Given the description of an element on the screen output the (x, y) to click on. 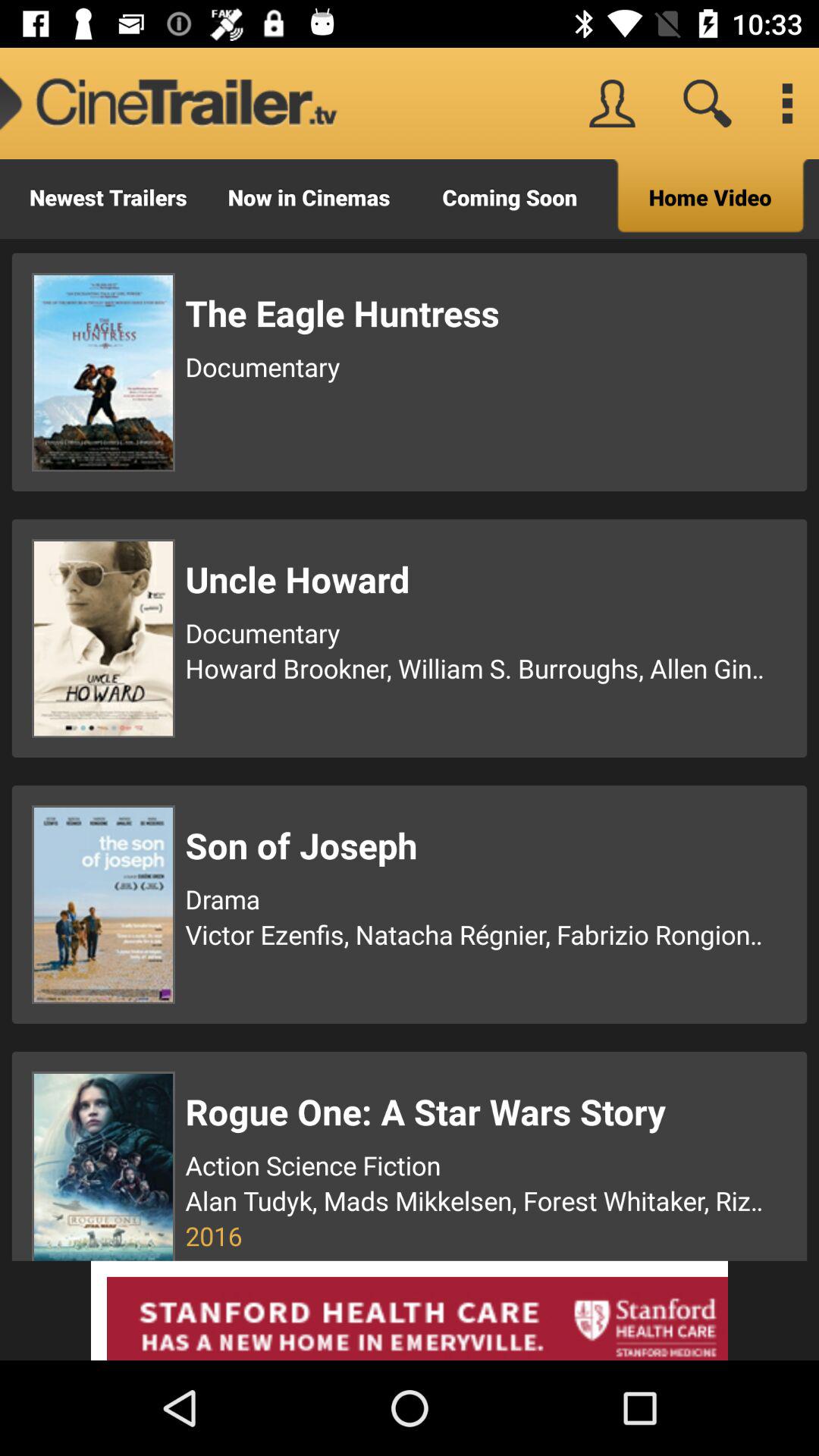
scroll until victor ezenfis natacha item (476, 934)
